Given the description of an element on the screen output the (x, y) to click on. 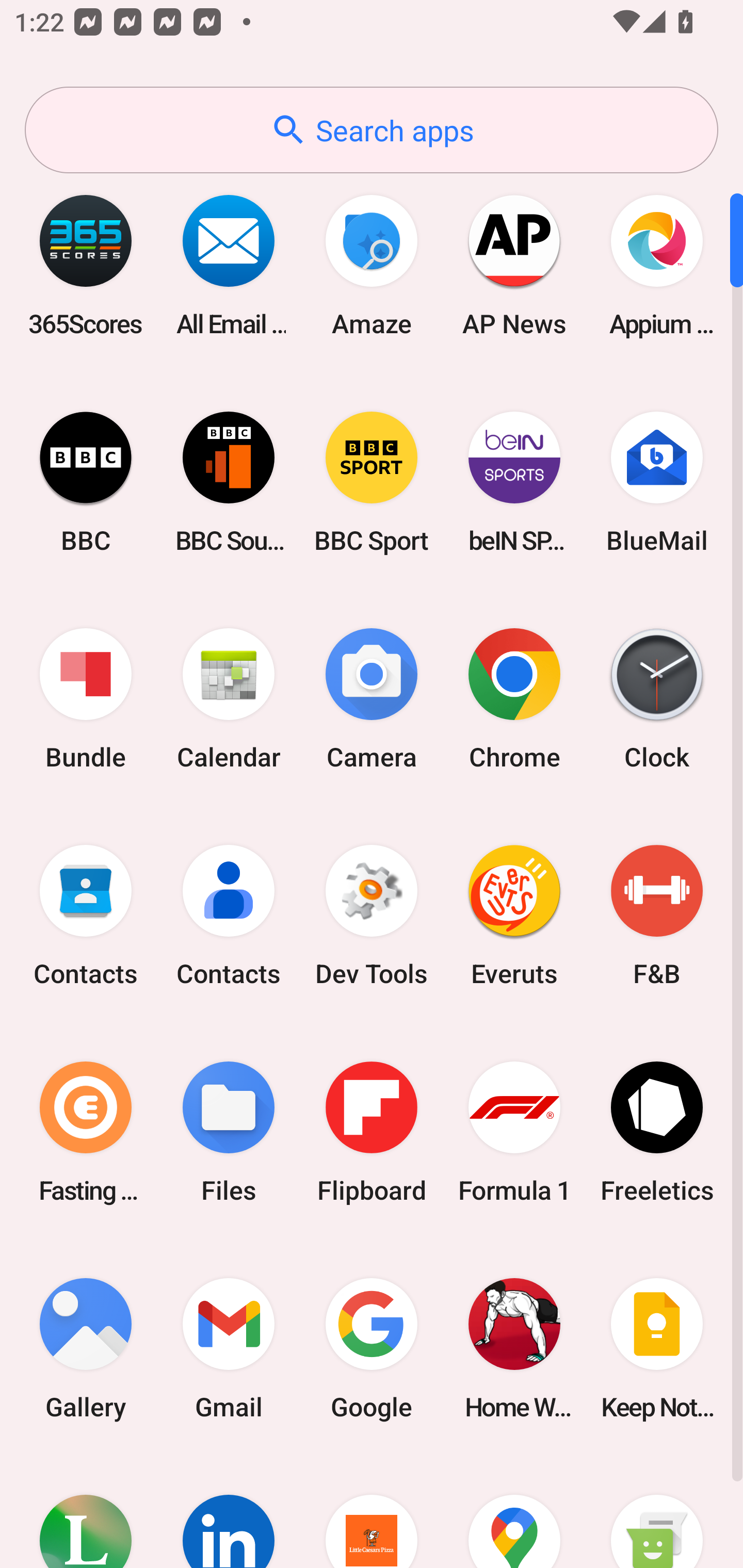
  Search apps (371, 130)
365Scores (85, 264)
All Email Connect (228, 264)
Amaze (371, 264)
AP News (514, 264)
Appium Settings (656, 264)
BBC (85, 482)
BBC Sounds (228, 482)
BBC Sport (371, 482)
beIN SPORTS (514, 482)
BlueMail (656, 482)
Bundle (85, 699)
Calendar (228, 699)
Camera (371, 699)
Chrome (514, 699)
Clock (656, 699)
Contacts (85, 915)
Contacts (228, 915)
Dev Tools (371, 915)
Everuts (514, 915)
F&B (656, 915)
Fasting Coach (85, 1131)
Files (228, 1131)
Flipboard (371, 1131)
Formula 1 (514, 1131)
Freeletics (656, 1131)
Gallery (85, 1348)
Gmail (228, 1348)
Google (371, 1348)
Home Workout (514, 1348)
Keep Notes (656, 1348)
Lifesum (85, 1512)
LinkedIn (228, 1512)
Little Caesars Pizza (371, 1512)
Maps (514, 1512)
Messaging (656, 1512)
